Given the description of an element on the screen output the (x, y) to click on. 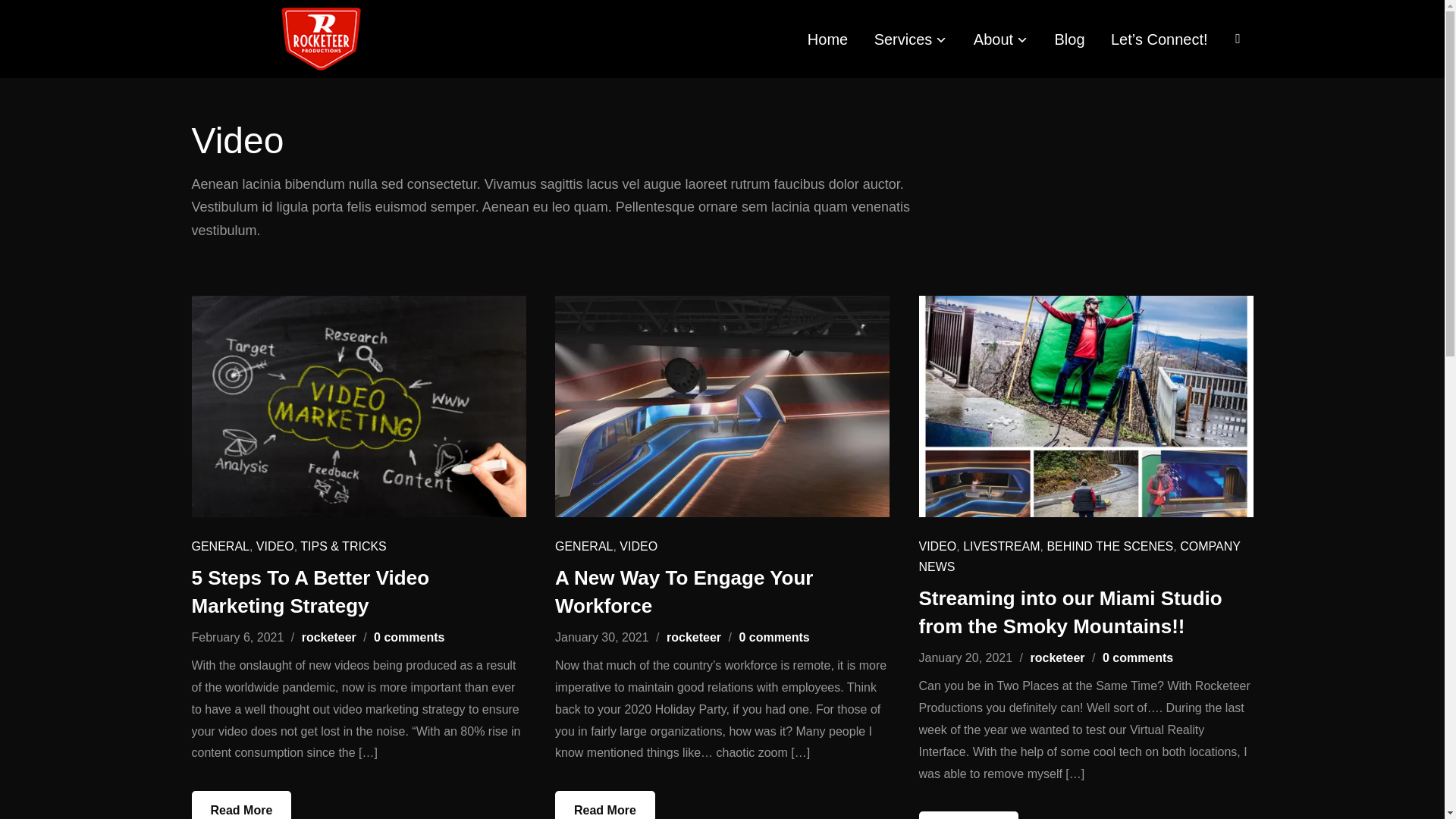
Permalink to 5 Steps To A Better Video Marketing Strategy (240, 805)
Permalink to A New Way To Engage Your Workforce (604, 805)
Posts by rocketeer (693, 636)
Services (911, 39)
Home (827, 39)
Posts by rocketeer (1056, 657)
Posts by rocketeer (328, 636)
Search (15, 15)
